Given the description of an element on the screen output the (x, y) to click on. 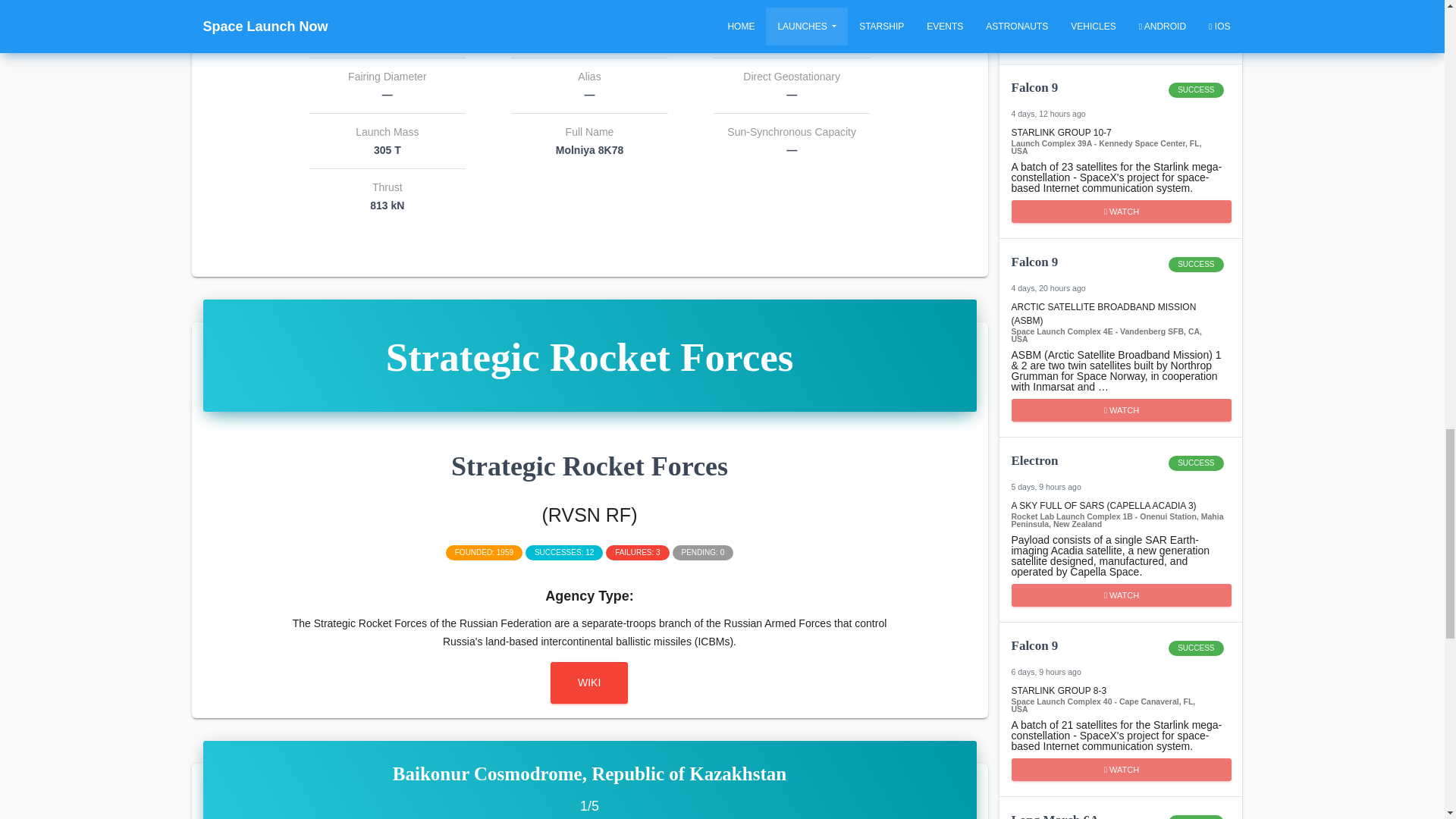
WIKI (1119, 814)
WATCH (588, 682)
WATCH (1121, 594)
WATCH (1119, 96)
WATCH (1119, 470)
WATCH (1119, 655)
